Given the description of an element on the screen output the (x, y) to click on. 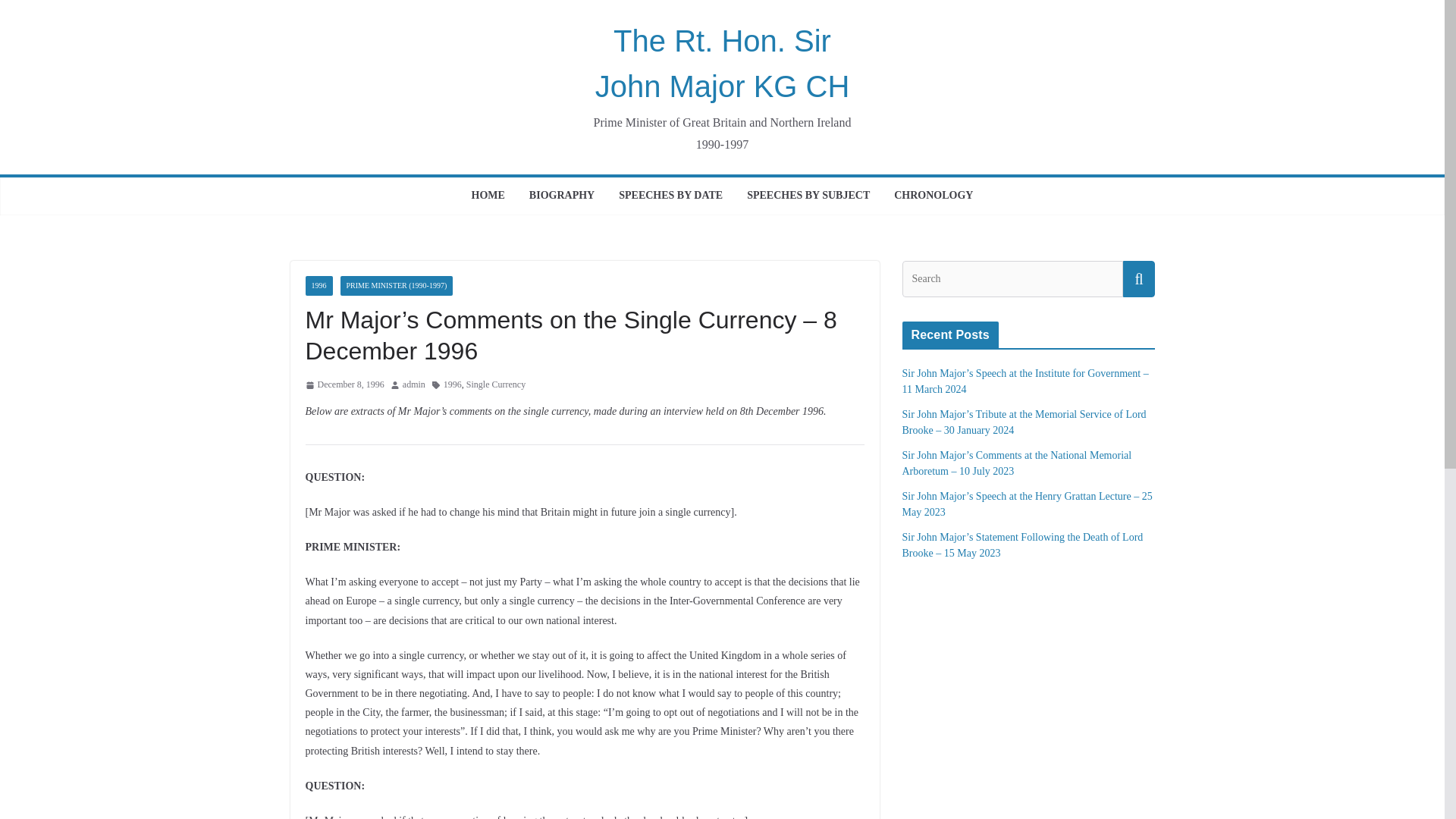
CHRONOLOGY (932, 196)
December 8, 1996 (344, 384)
SPEECHES BY SUBJECT (807, 196)
1996 (317, 285)
BIOGRAPHY (561, 196)
admin (414, 384)
HOME (488, 196)
The Rt. Hon. Sir John Major KG CH (722, 63)
1996 (452, 384)
The Rt. Hon. Sir John Major KG CH (722, 63)
8:58 am (344, 384)
Single Currency (495, 384)
admin (414, 384)
SPEECHES BY DATE (670, 196)
